Given the description of an element on the screen output the (x, y) to click on. 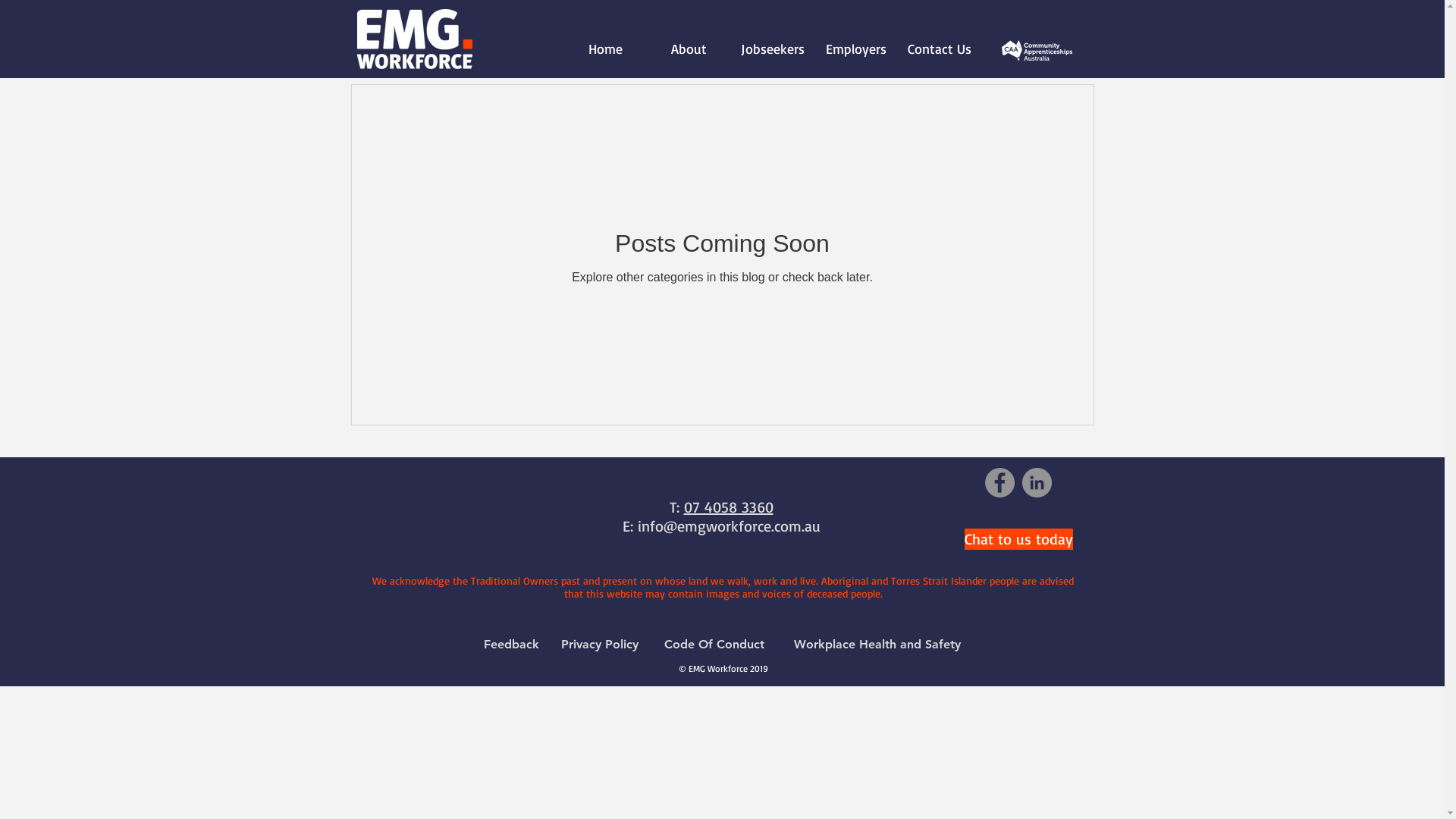
Chat to us today Element type: text (1018, 538)
Employers Element type: text (855, 48)
info@emgworkforce.com.au Element type: text (728, 525)
07 4058 3360 Element type: text (728, 506)
Home Element type: text (605, 48)
Code Of Conduct Element type: text (714, 644)
Privacy Policy Element type: text (599, 644)
Workplace Health and Safety Element type: text (877, 644)
Feedback Element type: text (511, 644)
CAA Logo_REVERSE.png Element type: hover (1036, 50)
About Element type: text (688, 48)
Contact Us Element type: text (938, 48)
